Given the description of an element on the screen output the (x, y) to click on. 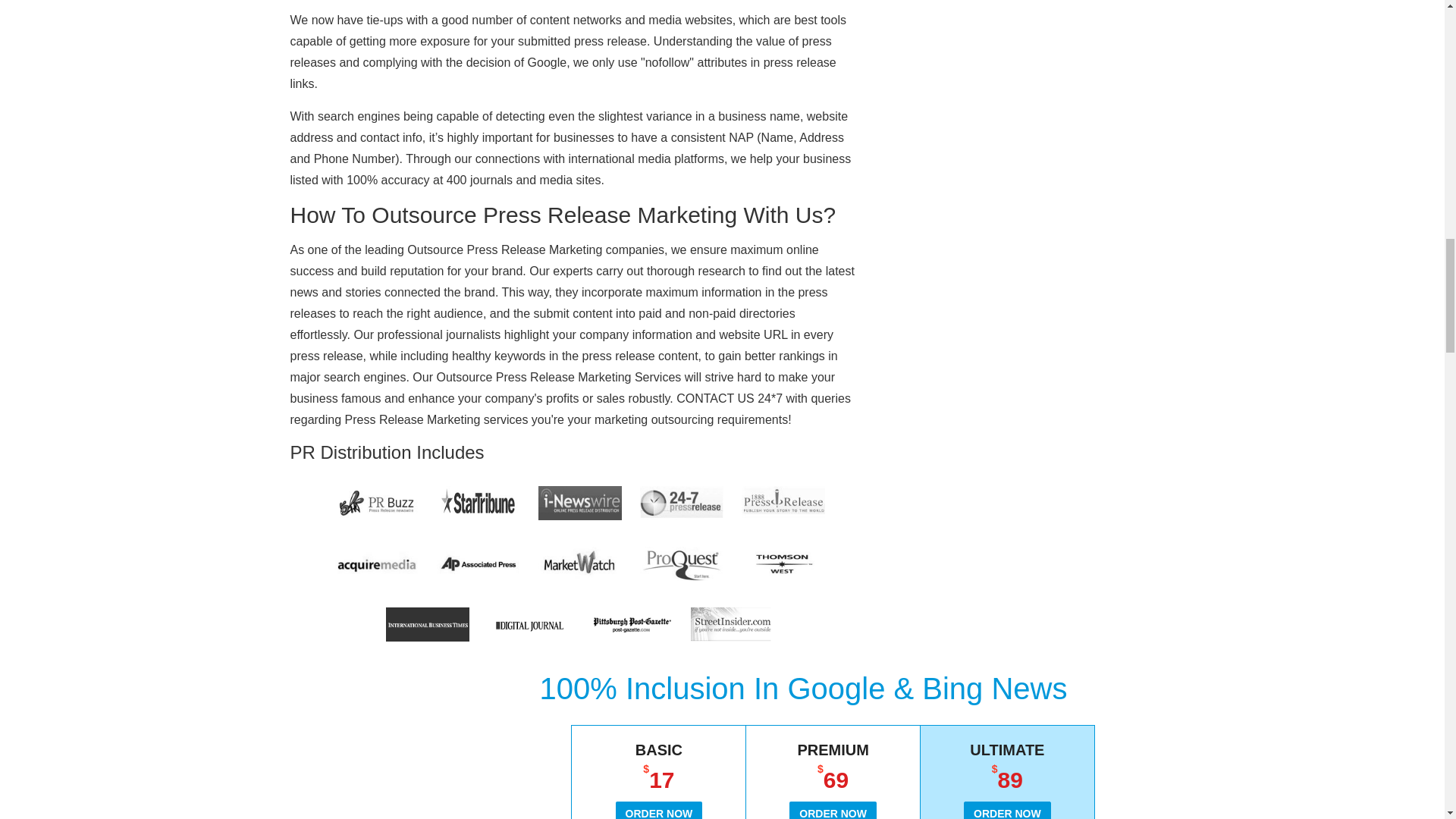
Order Now (832, 810)
Thomsonwest (783, 563)
Street Insider (732, 624)
International Business Times (426, 624)
PR Buzz (376, 503)
Marketwatch (579, 563)
Proquest (681, 563)
1888 PR Distribution service (783, 503)
Acquiremedia (376, 563)
24-7 PR Submission Service (681, 503)
